Given the description of an element on the screen output the (x, y) to click on. 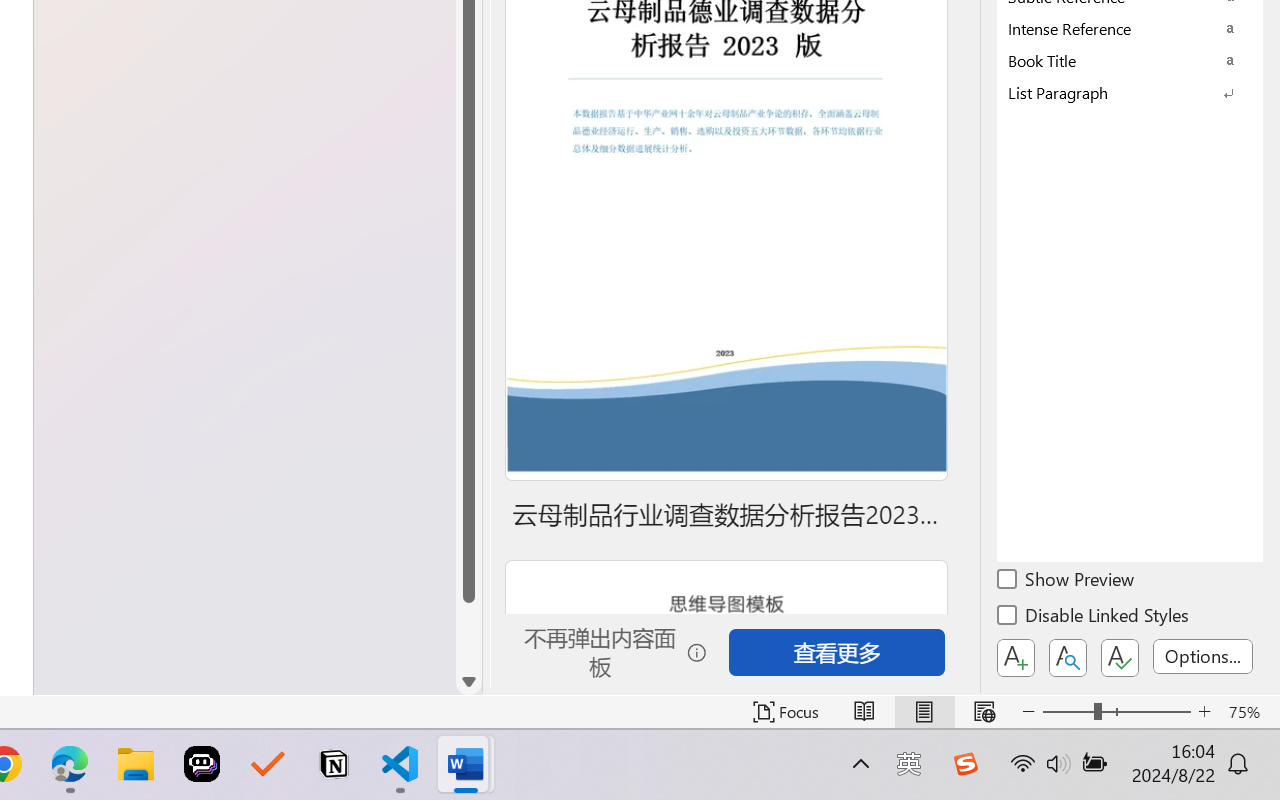
Class: Image (965, 764)
List Paragraph (1130, 92)
Print Layout (924, 712)
Zoom In (1204, 712)
Book Title (1130, 60)
